Given the description of an element on the screen output the (x, y) to click on. 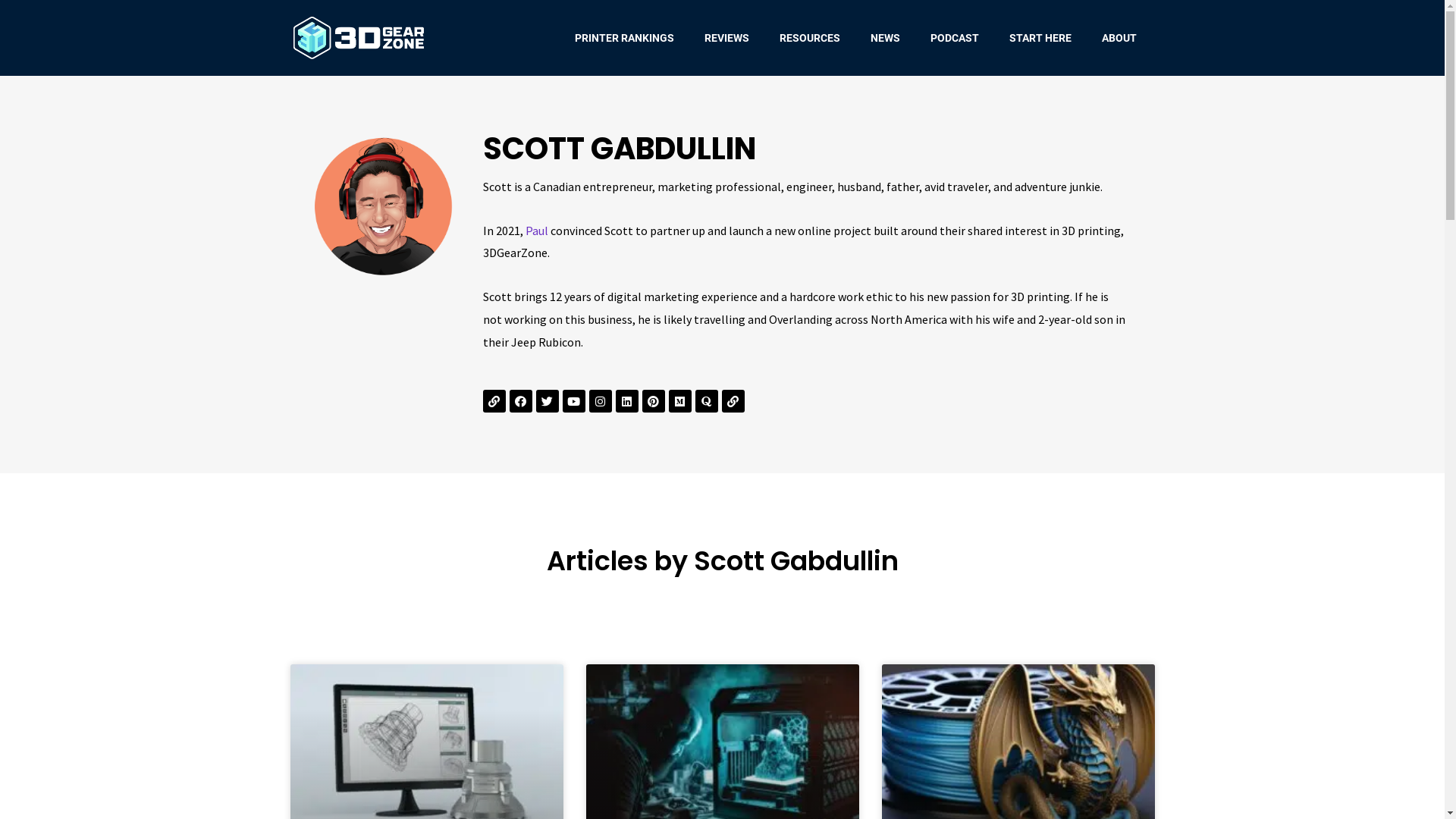
ABOUT Element type: text (1118, 37)
Twitter Element type: text (546, 400)
Quora Element type: text (705, 400)
RESOURCES Element type: text (809, 37)
Youtube Element type: text (573, 400)
Facebook Element type: text (520, 400)
NEWS Element type: text (885, 37)
Link Element type: text (493, 400)
Link Element type: text (732, 400)
Paul Element type: text (535, 230)
START HERE Element type: text (1040, 37)
PODCAST Element type: text (954, 37)
Pinterest Element type: text (652, 400)
PRINTER RANKINGS Element type: text (624, 37)
Instagram Element type: text (599, 400)
REVIEWS Element type: text (726, 37)
Medium Element type: text (679, 400)
Linkedin Element type: text (626, 400)
